Given the description of an element on the screen output the (x, y) to click on. 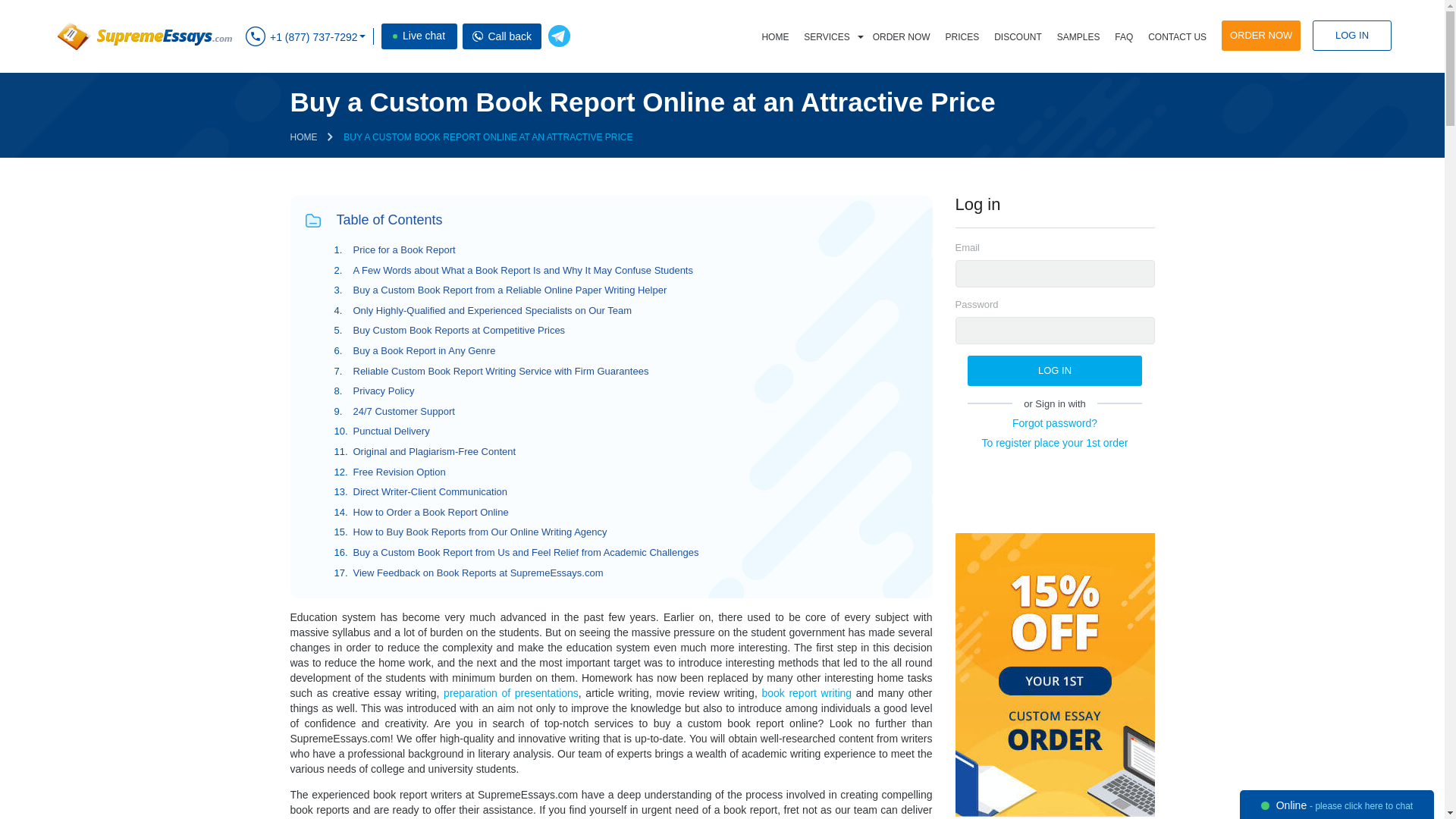
How to Buy Book Reports from Our Online Writing Agency (480, 531)
Direct Writer-Client Communication (429, 491)
DISCOUNT (1018, 36)
Call back (477, 36)
PRICES (962, 36)
HOME (303, 136)
Buy a Book Report in Any Genre (424, 350)
SAMPLES (1078, 36)
Buy Custom Book Reports at Competitive Prices (459, 329)
Privacy Policy (383, 390)
FAQ (1123, 36)
CONTACT US (1176, 36)
